Given the description of an element on the screen output the (x, y) to click on. 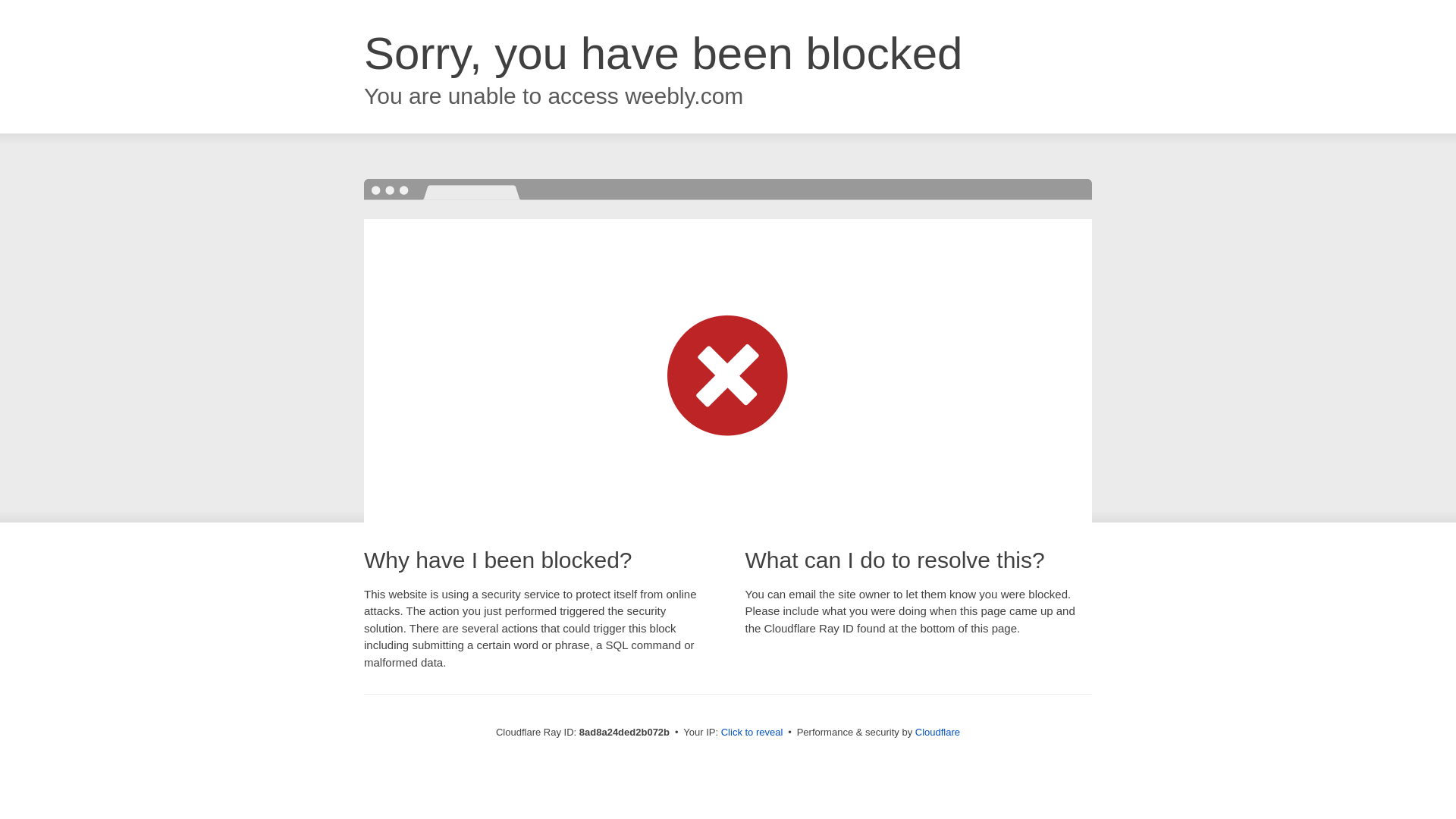
Click to reveal (751, 732)
Cloudflare (937, 731)
